Given the description of an element on the screen output the (x, y) to click on. 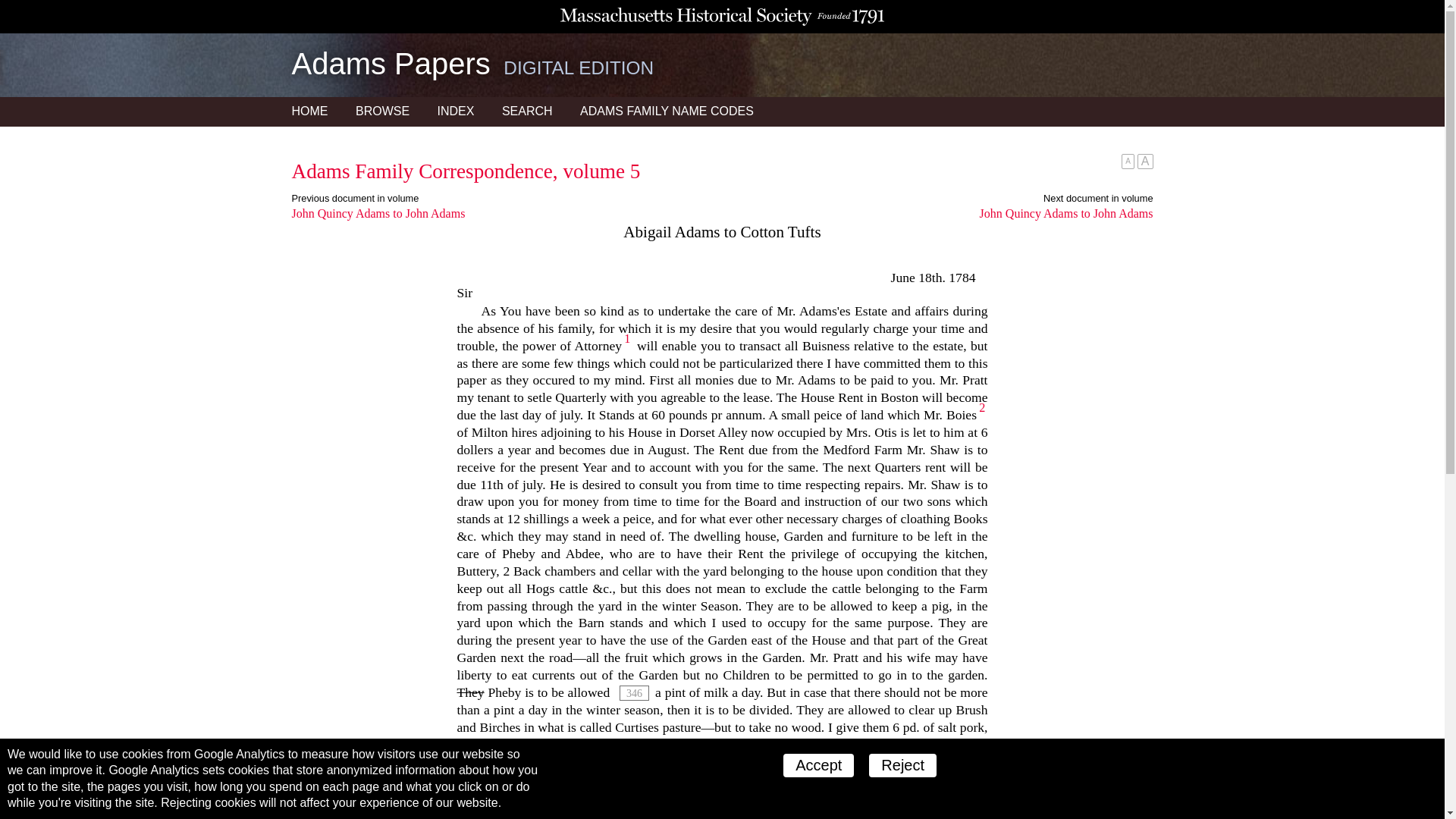
John Quincy Adams to John Adams (506, 213)
HOME (309, 111)
John Quincy Adams to John Adams (937, 213)
Accept (818, 765)
Reject (902, 765)
BROWSE (381, 111)
INDEX (455, 111)
Adams Family Correspondence, volume 5 (465, 170)
SEARCH (527, 111)
ADAMS FAMILY NAME CODES (666, 111)
